Given the description of an element on the screen output the (x, y) to click on. 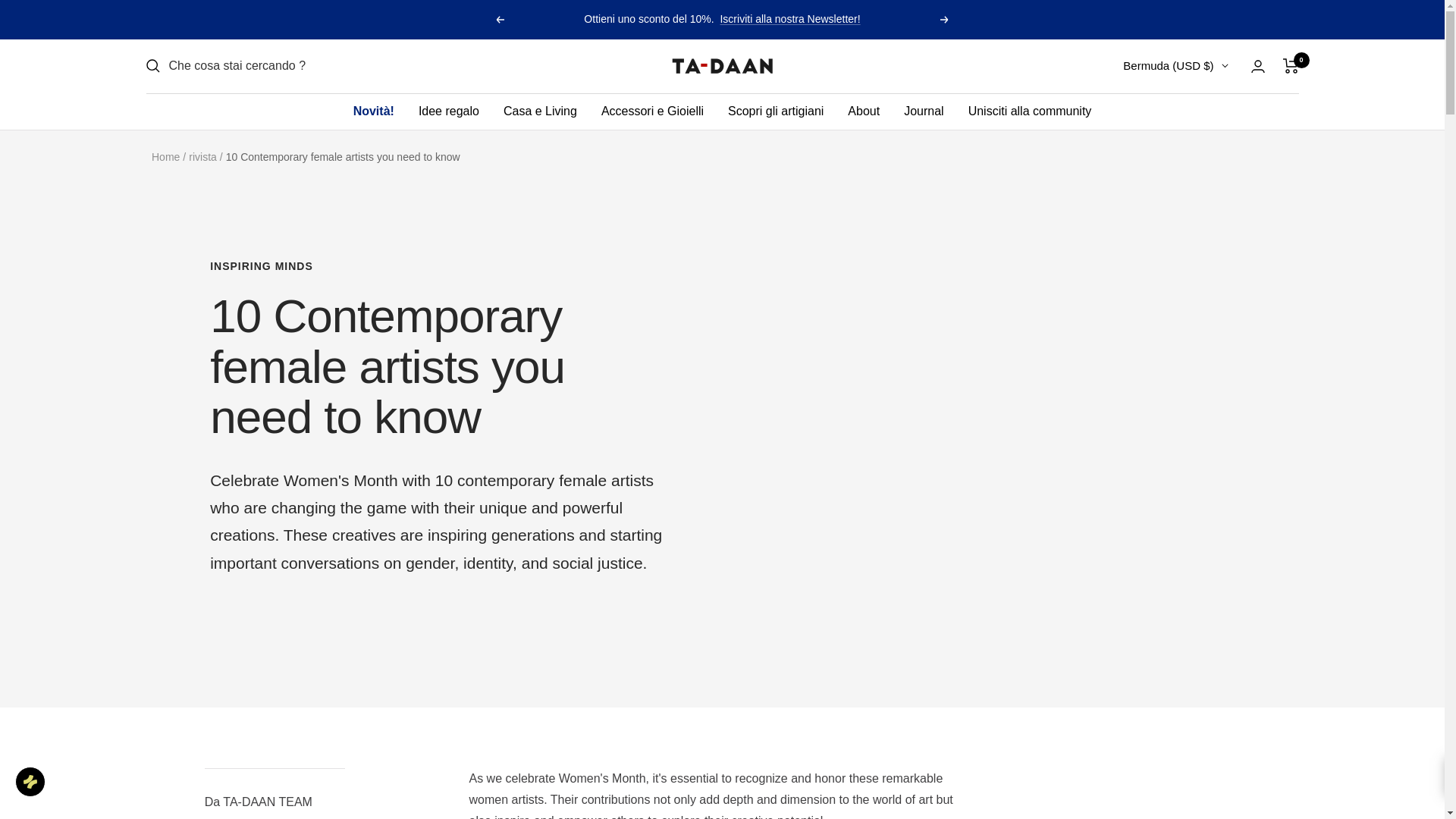
AW (1073, 409)
AZ (1073, 487)
BZ (1073, 645)
AG (1073, 303)
AI (1073, 277)
BT (1073, 724)
AT (1073, 461)
BO (1073, 777)
AU (1073, 435)
BA (1073, 803)
